Given the description of an element on the screen output the (x, y) to click on. 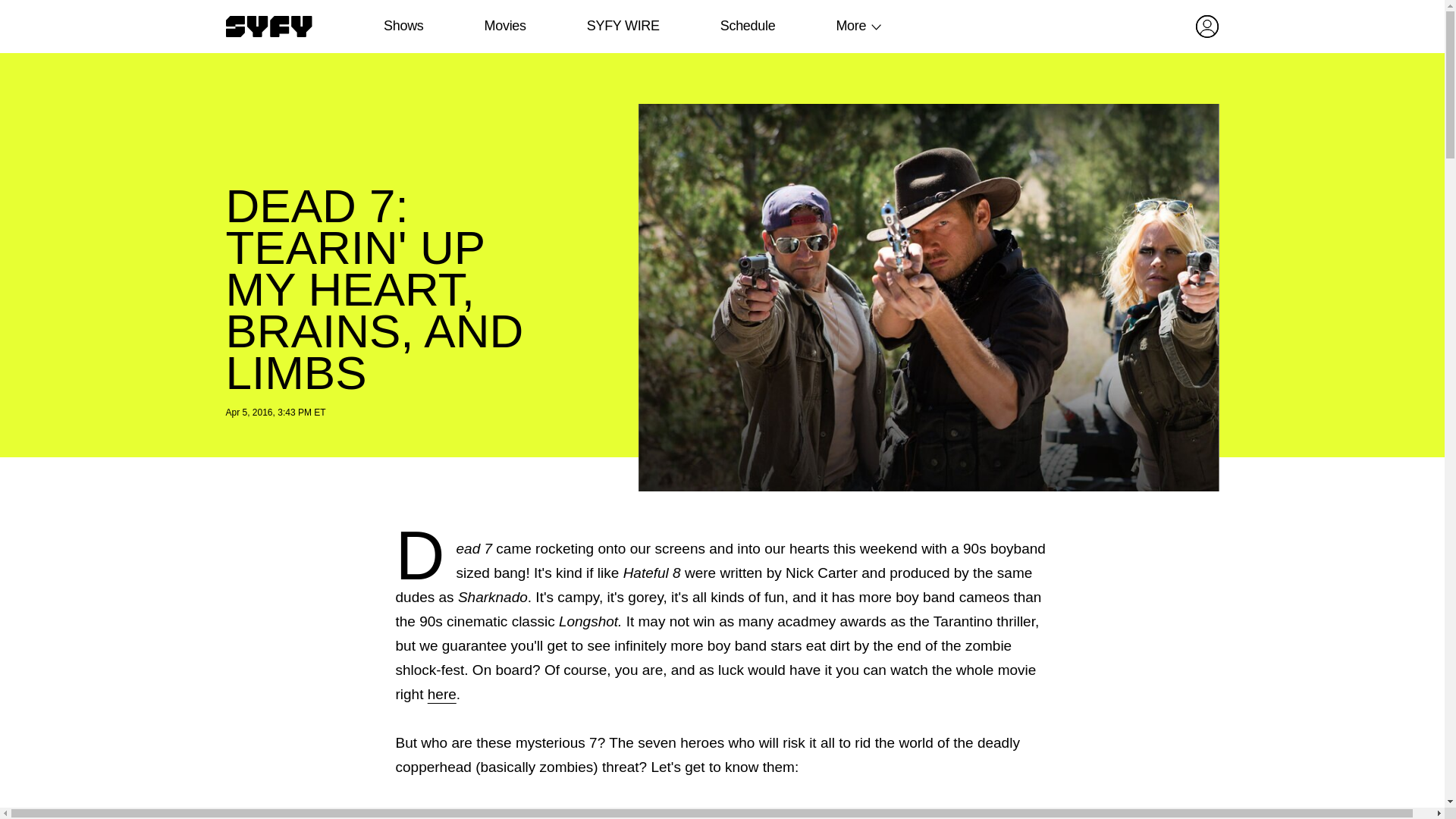
Movies (504, 26)
Schedule (746, 26)
here (442, 693)
More (850, 26)
Shows (403, 26)
SYFY WIRE (622, 26)
